Given the description of an element on the screen output the (x, y) to click on. 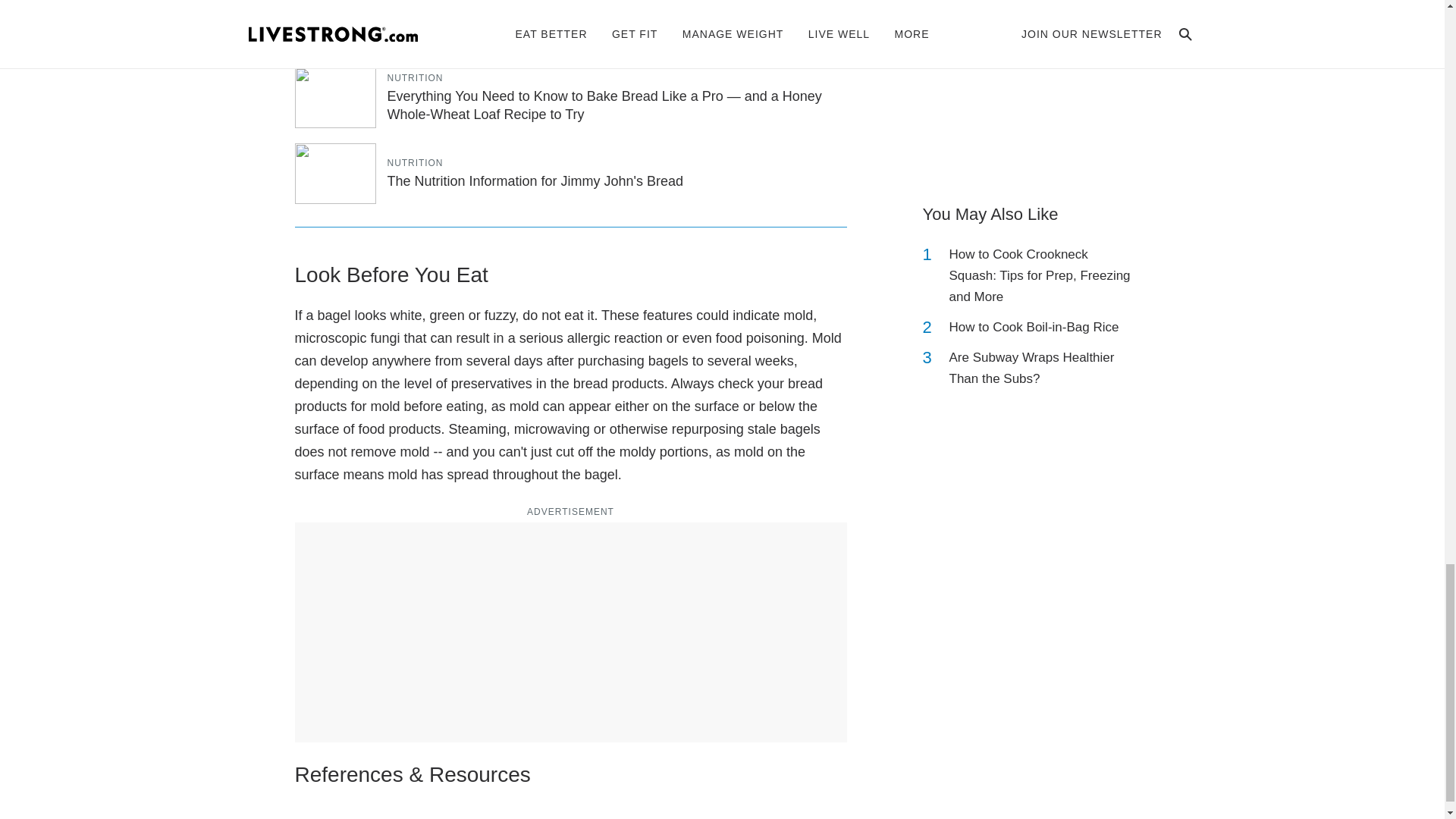
The Nutrition Information for Jimmy John's Bread (534, 181)
Are Subway Wraps Healthier Than the Subs? (1042, 368)
How to Cook Boil-in-Bag Rice (1034, 327)
